Given the description of an element on the screen output the (x, y) to click on. 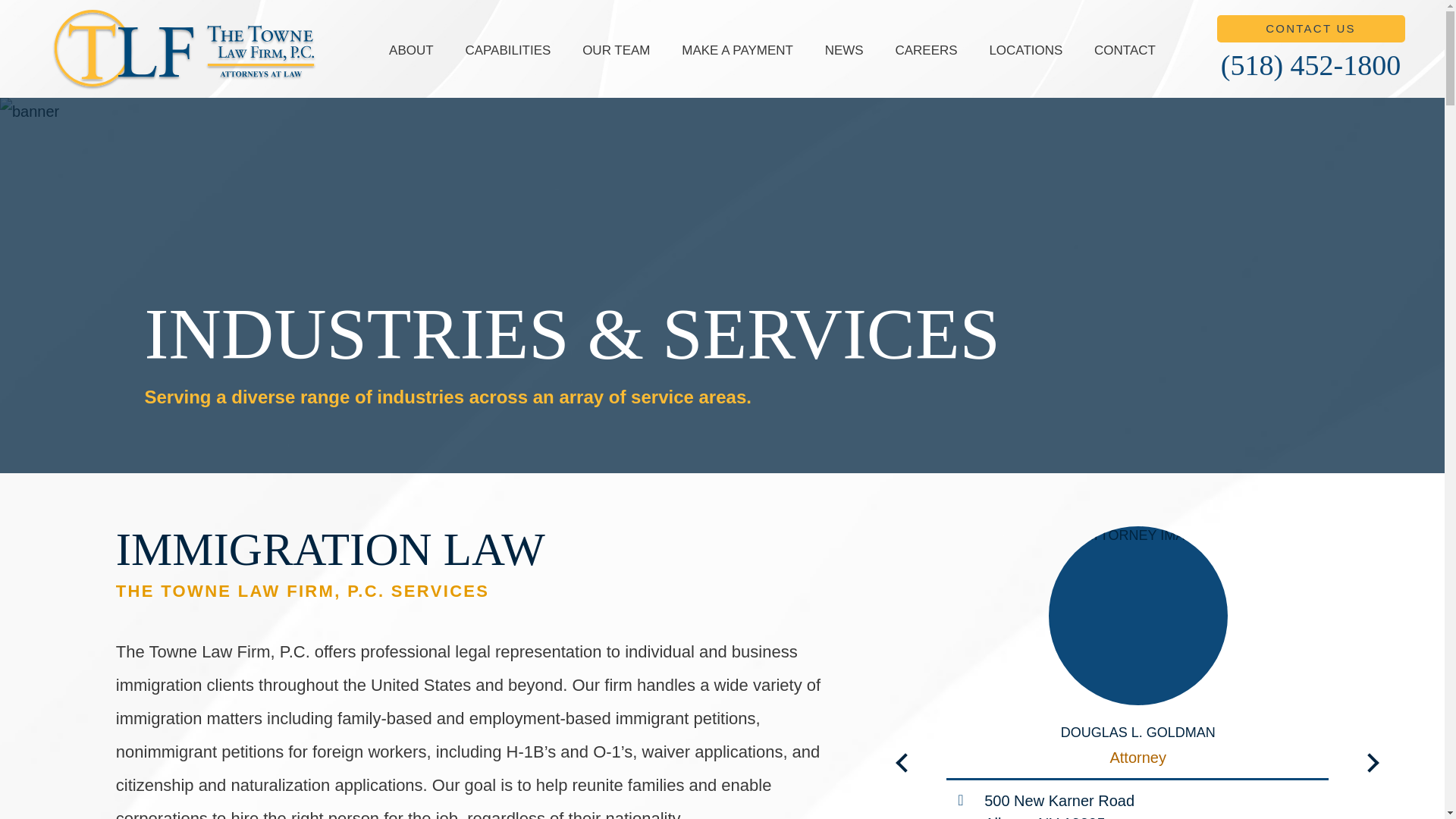
TLF Home Page (183, 48)
ABOUT (410, 50)
OUR TEAM (615, 50)
CAPABILITIES (507, 50)
